Given the description of an element on the screen output the (x, y) to click on. 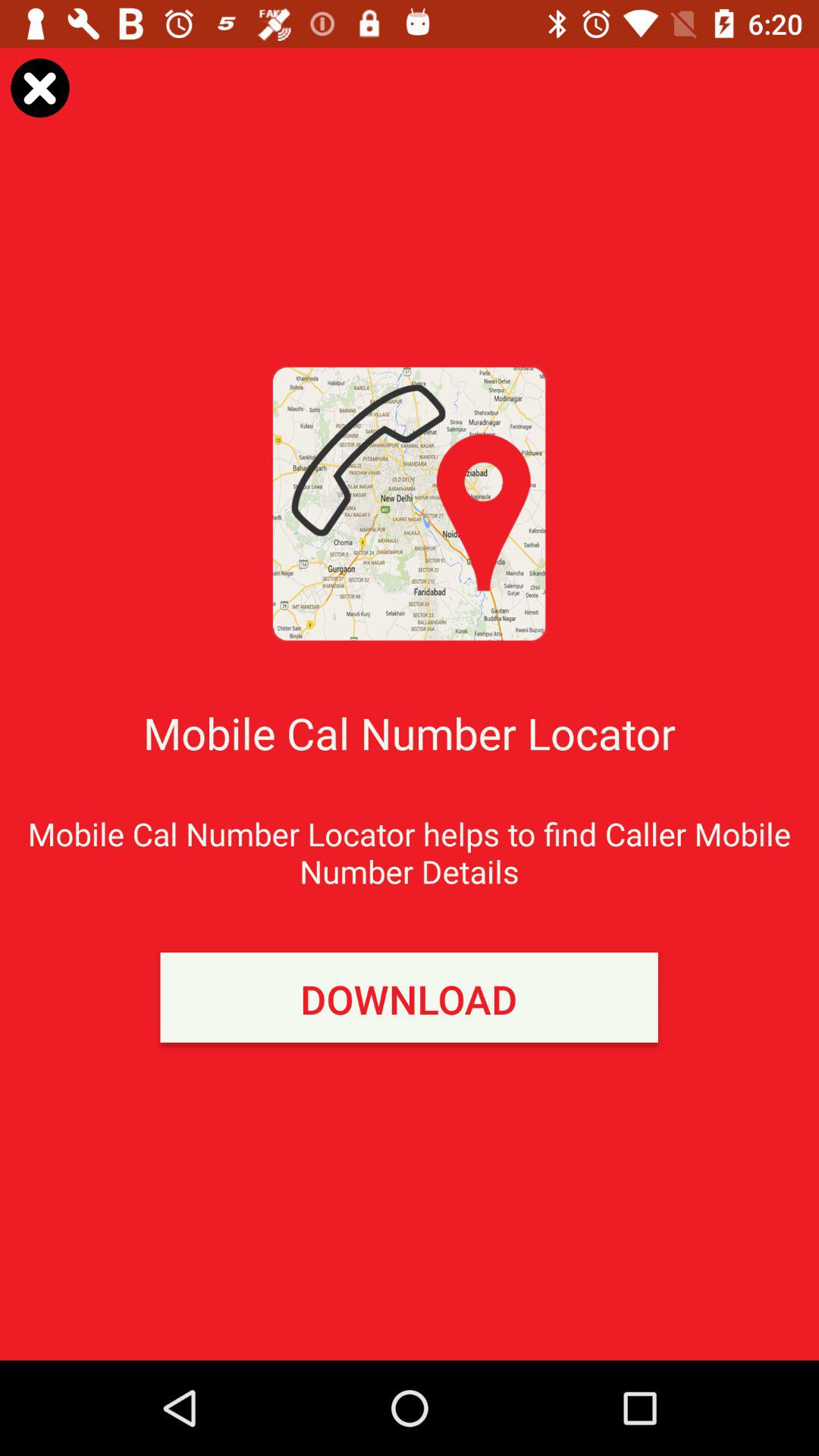
select item at the top left corner (39, 87)
